Given the description of an element on the screen output the (x, y) to click on. 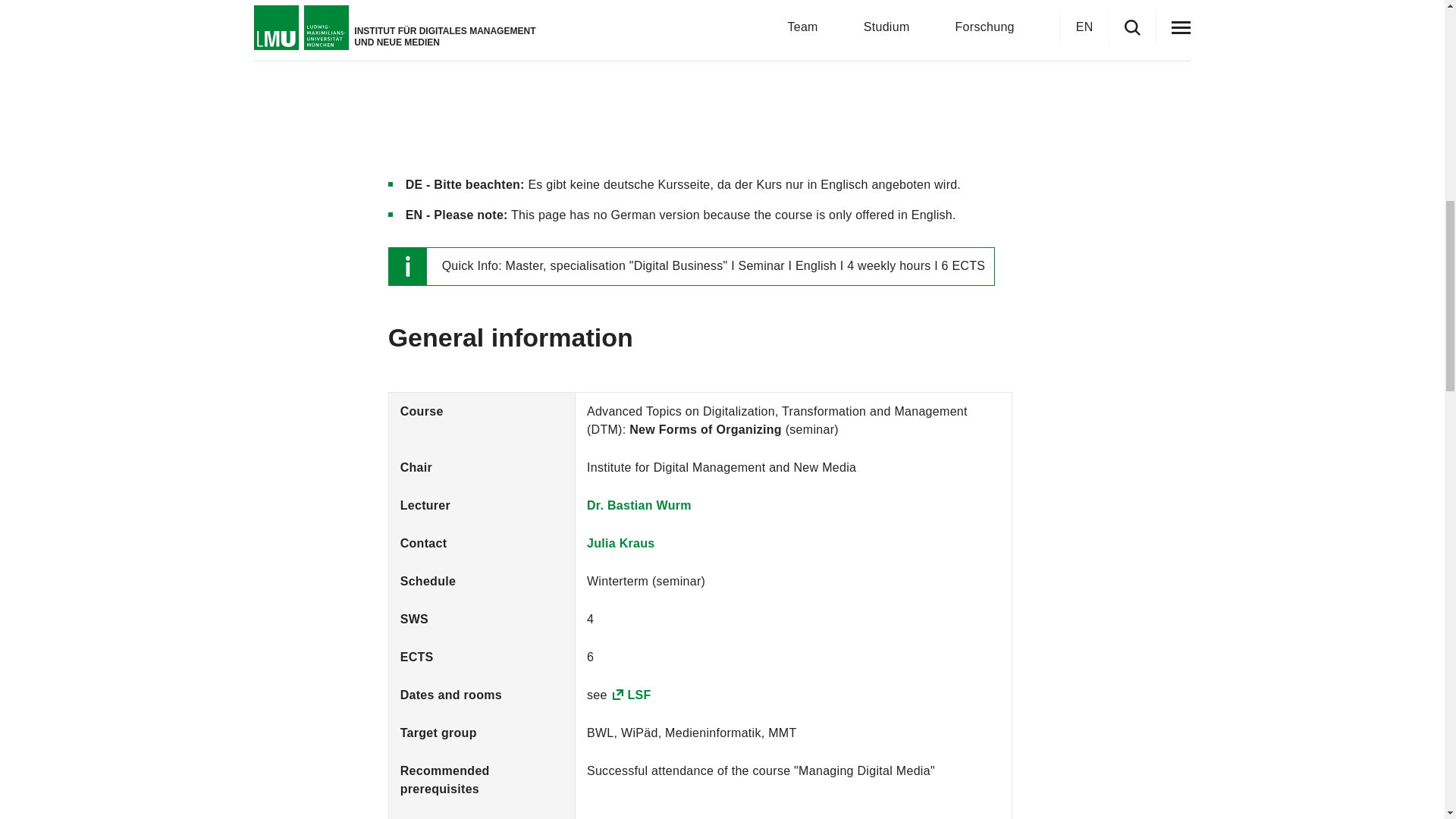
Julia Kraus (620, 543)
LSF (630, 694)
Springe zu: LSF and Moodle (784, 11)
Dr. Bastian Wurm (638, 504)
Springe zu: Application and examination (361, 11)
LSF and Moodle (784, 11)
Application and examination (361, 11)
